Given the description of an element on the screen output the (x, y) to click on. 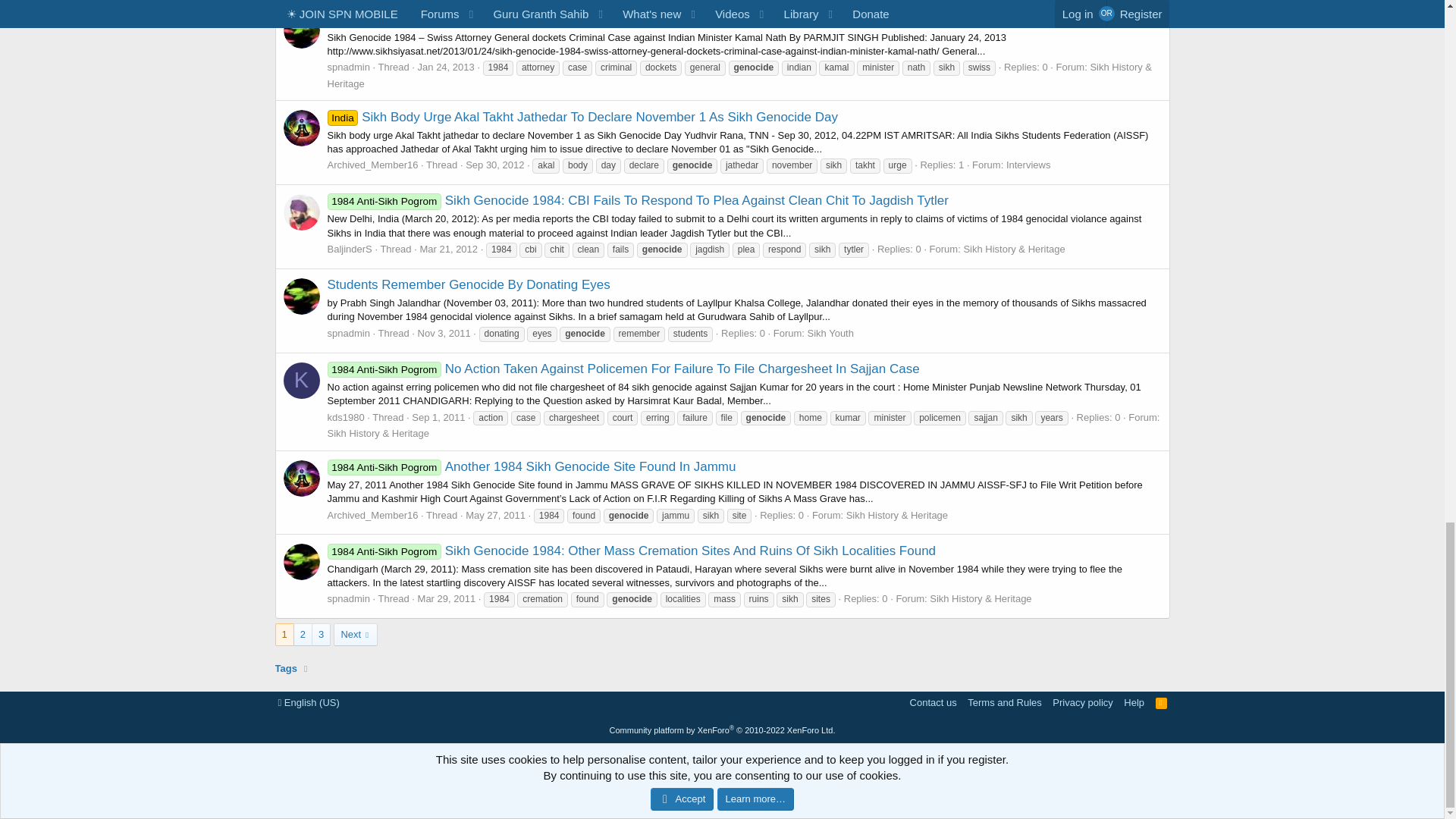
Sep 30, 2012 at 10:56 PM (494, 164)
Sep 1, 2011 at 4:19 PM (438, 417)
Mar 21, 2012 at 12:57 PM (448, 248)
May 27, 2011 at 11:04 PM (495, 514)
Jan 24, 2013 at 12:25 PM (445, 66)
Nov 3, 2011 at 10:52 PM (443, 333)
